Given the description of an element on the screen output the (x, y) to click on. 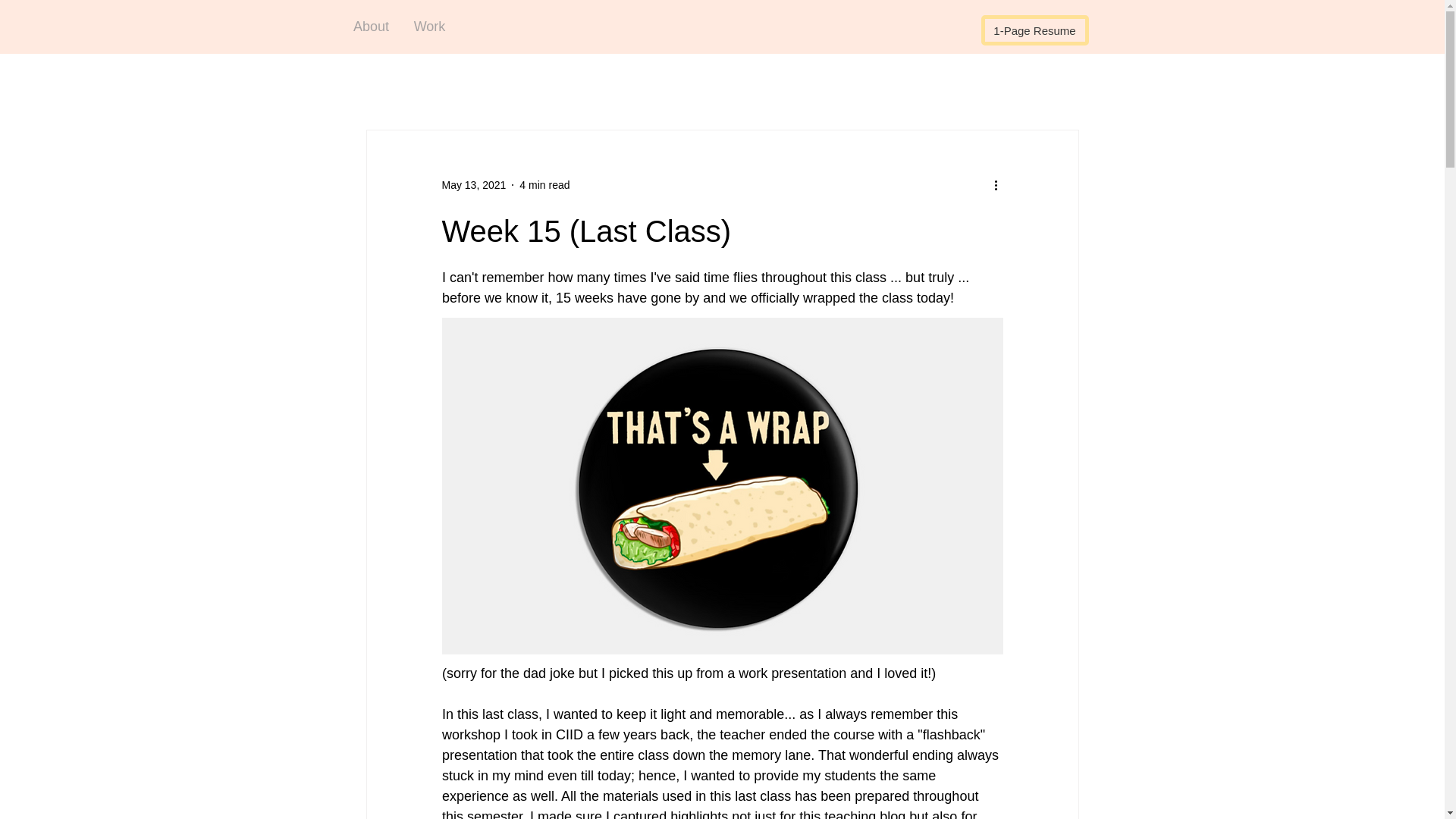
1-Page Resume (1035, 30)
4 min read (544, 184)
Work (429, 26)
May 13, 2021 (473, 184)
About (370, 26)
